Given the description of an element on the screen output the (x, y) to click on. 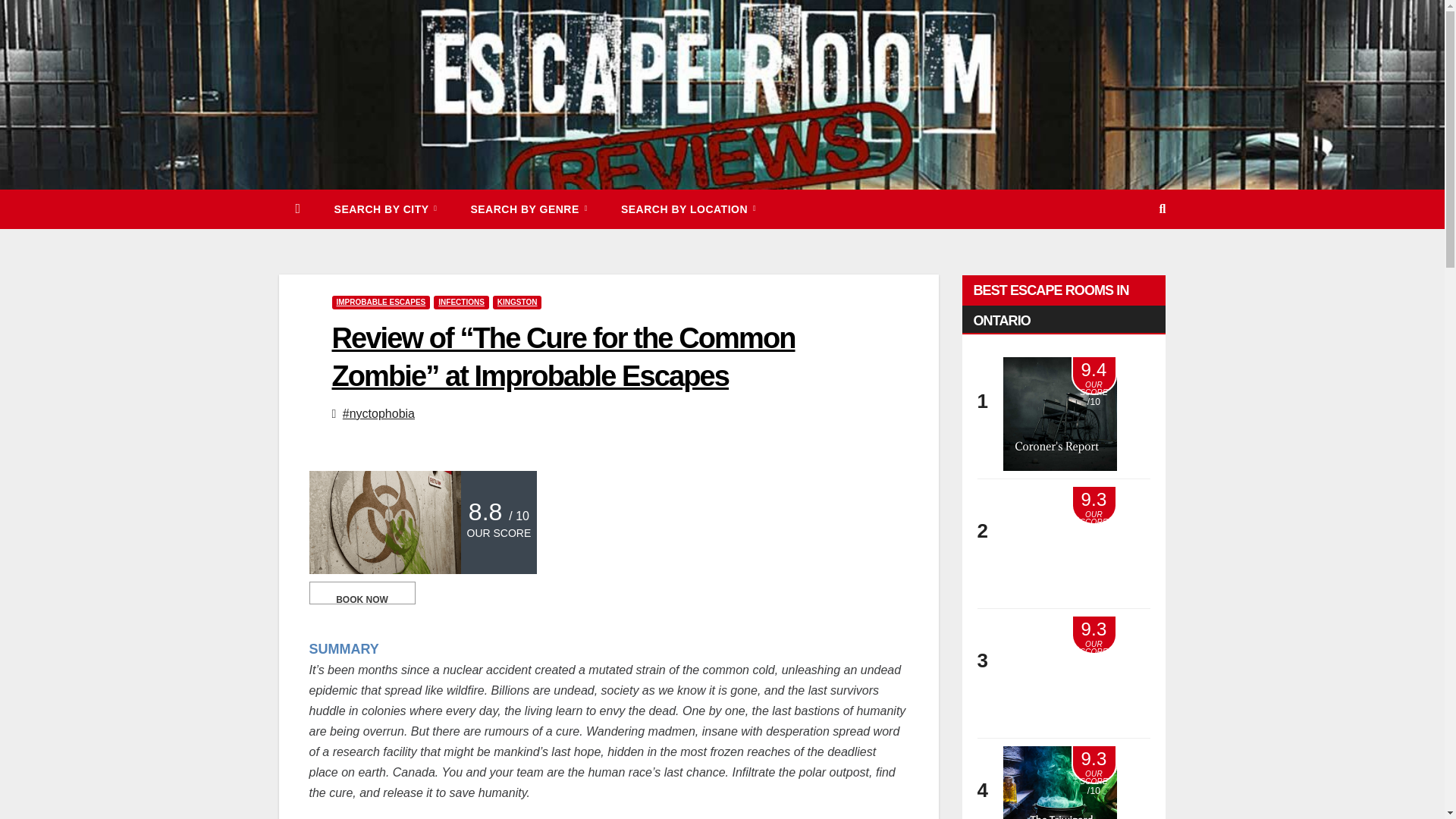
SEARCH BY GENRE (528, 209)
SEARCH BY LOCATION (688, 209)
SEARCH BY CITY (385, 209)
Search by City (385, 209)
